Given the description of an element on the screen output the (x, y) to click on. 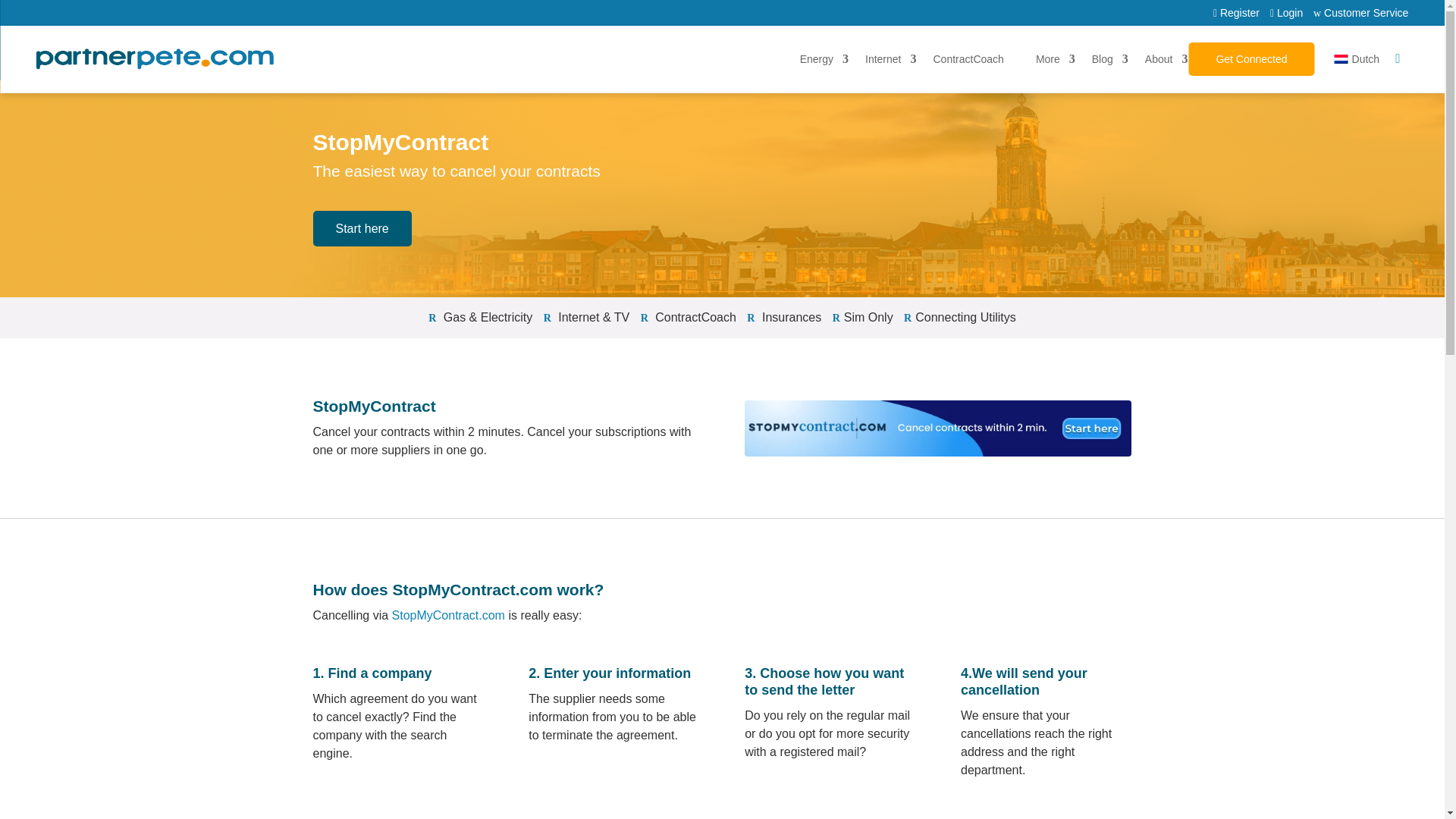
w Customer Service (1356, 12)
Internet (882, 59)
Energy (815, 59)
Dutch (1341, 58)
StopMyContract (937, 428)
ContractCoach (968, 59)
